Given the description of an element on the screen output the (x, y) to click on. 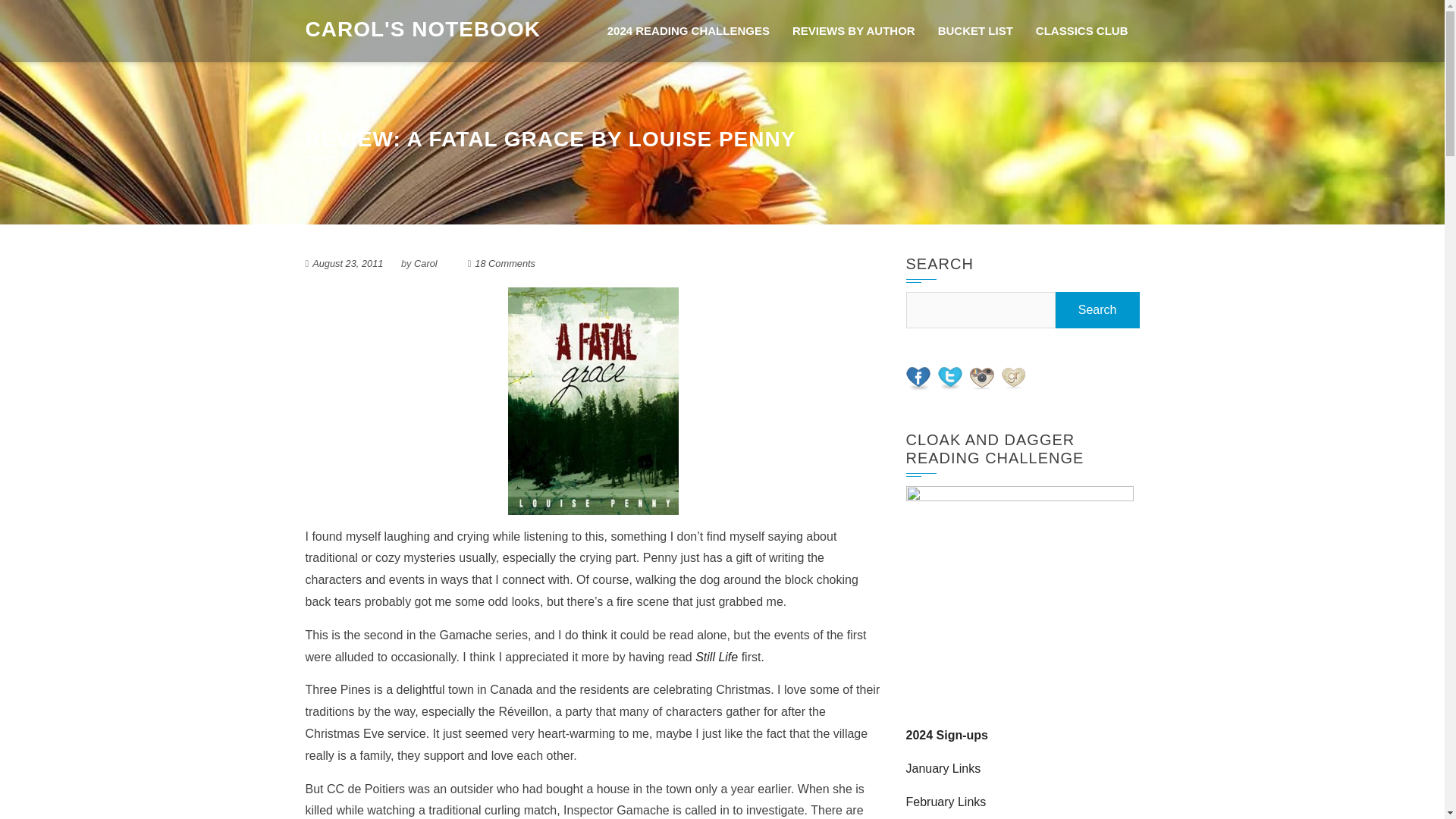
Still Life (716, 656)
Follow Me on Twitter (948, 378)
Search (1097, 310)
Follow Me on Instagram (980, 378)
18 Comments (504, 263)
CLASSICS CLUB (1082, 31)
Follow Me on Facebook (917, 378)
2024 READING CHALLENGES (687, 31)
August 23, 2011 (347, 263)
